Given the description of an element on the screen output the (x, y) to click on. 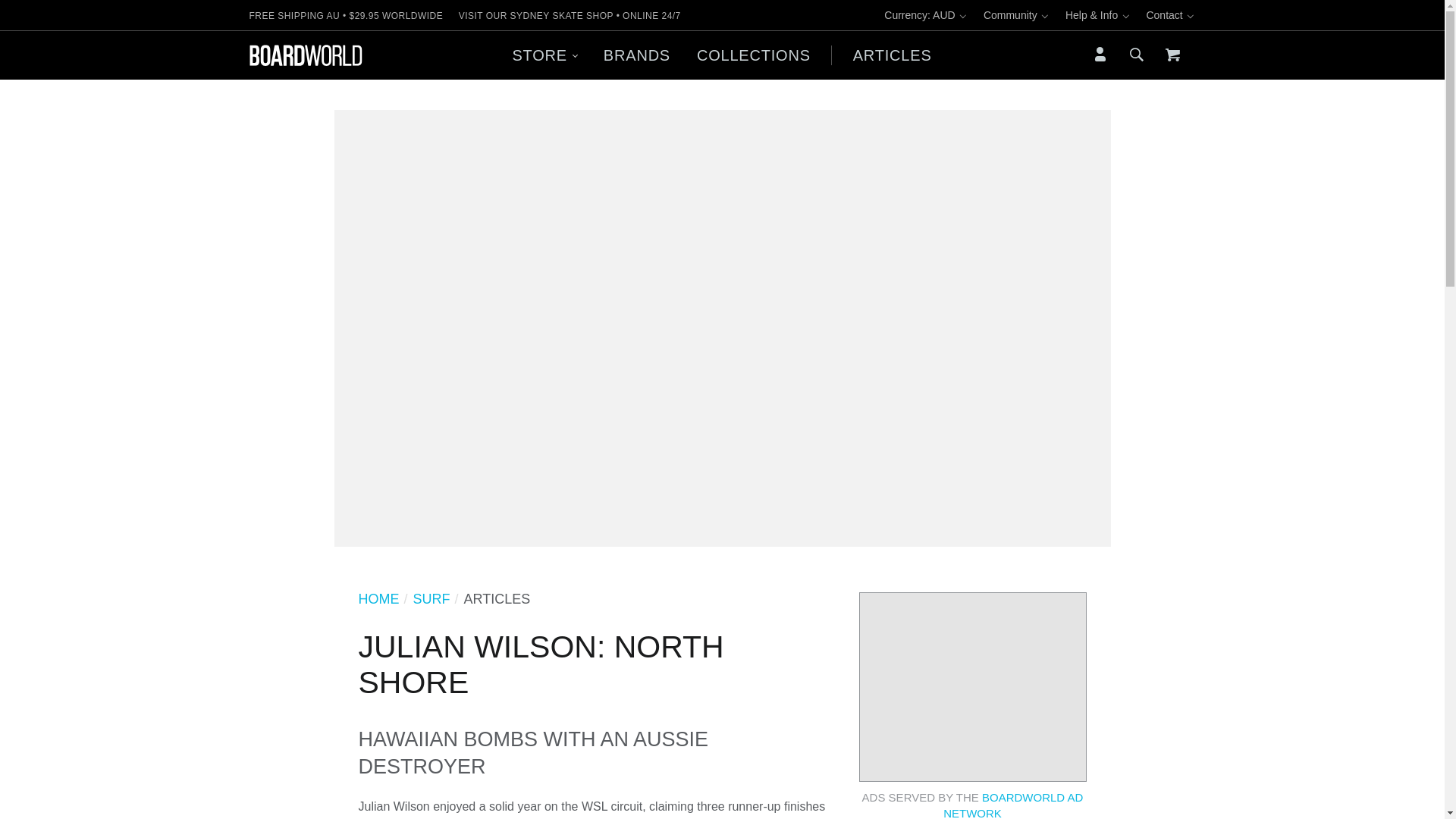
STORE (544, 55)
Currency: AUD (925, 14)
Contact (1170, 14)
ARTICLES (892, 55)
COLLECTIONS (753, 55)
BRANDS (635, 55)
Community (1016, 14)
Your Cart (1172, 55)
